Given the description of an element on the screen output the (x, y) to click on. 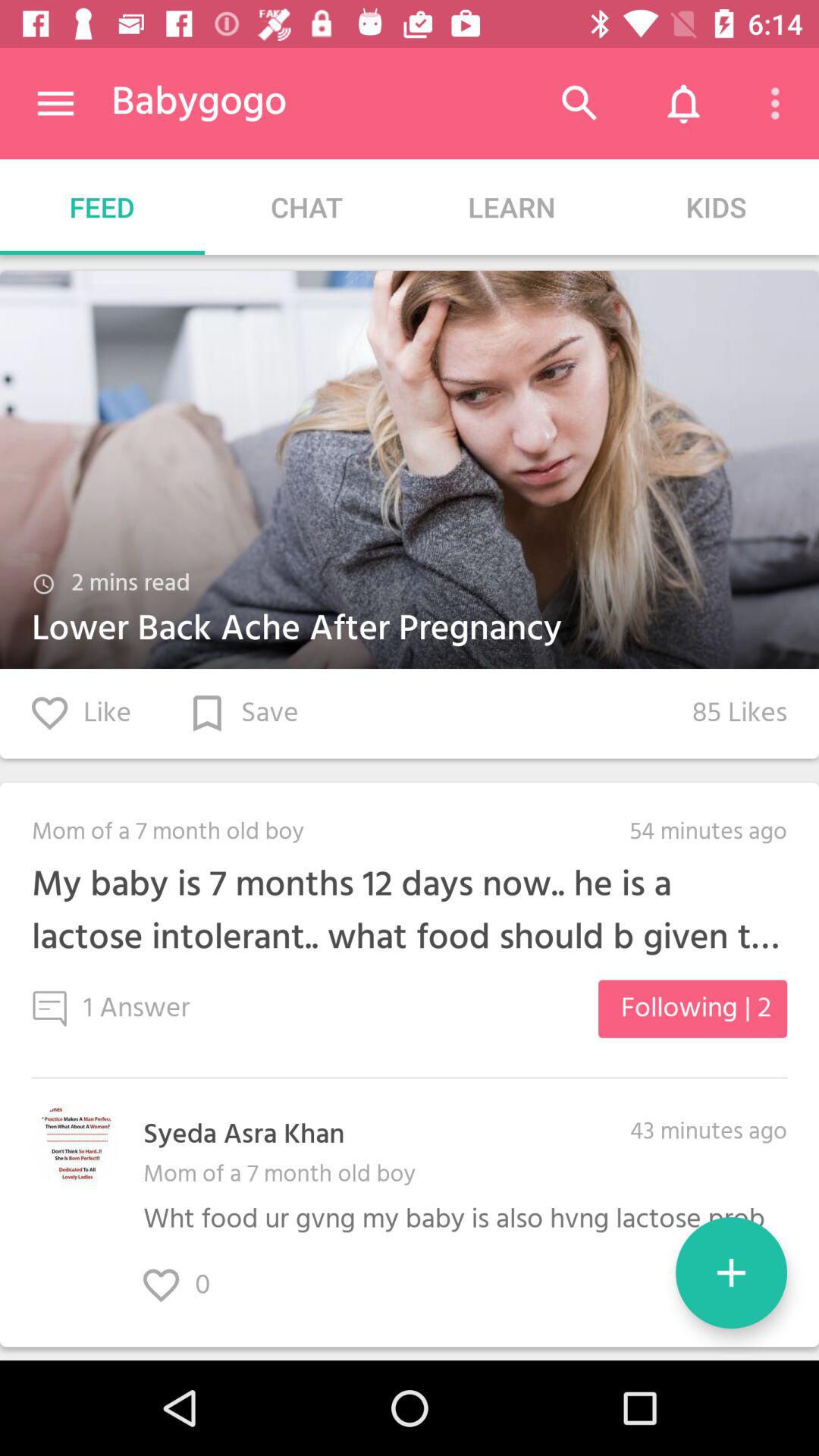
select the item to the left of 85 likes icon (81, 713)
